Given the description of an element on the screen output the (x, y) to click on. 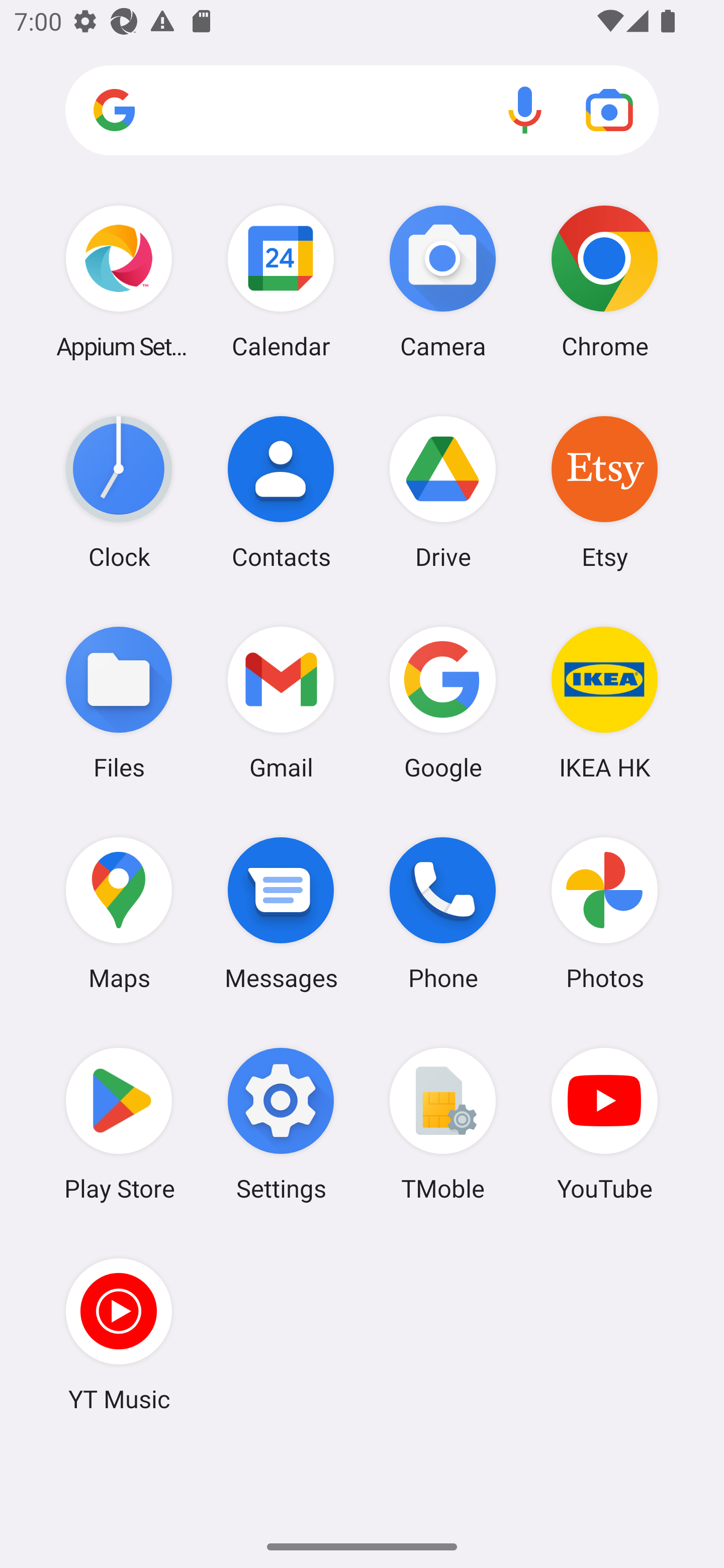
Search apps, web and more (361, 110)
Voice search (524, 109)
Google Lens (608, 109)
Appium Settings (118, 281)
Calendar (280, 281)
Camera (443, 281)
Chrome (604, 281)
Clock (118, 492)
Contacts (280, 492)
Drive (443, 492)
Etsy (604, 492)
Files (118, 702)
Gmail (280, 702)
Google (443, 702)
IKEA HK (604, 702)
Maps (118, 913)
Messages (280, 913)
Phone (443, 913)
Photos (604, 913)
Play Store (118, 1124)
Settings (280, 1124)
TMoble (443, 1124)
YouTube (604, 1124)
YT Music (118, 1334)
